Given the description of an element on the screen output the (x, y) to click on. 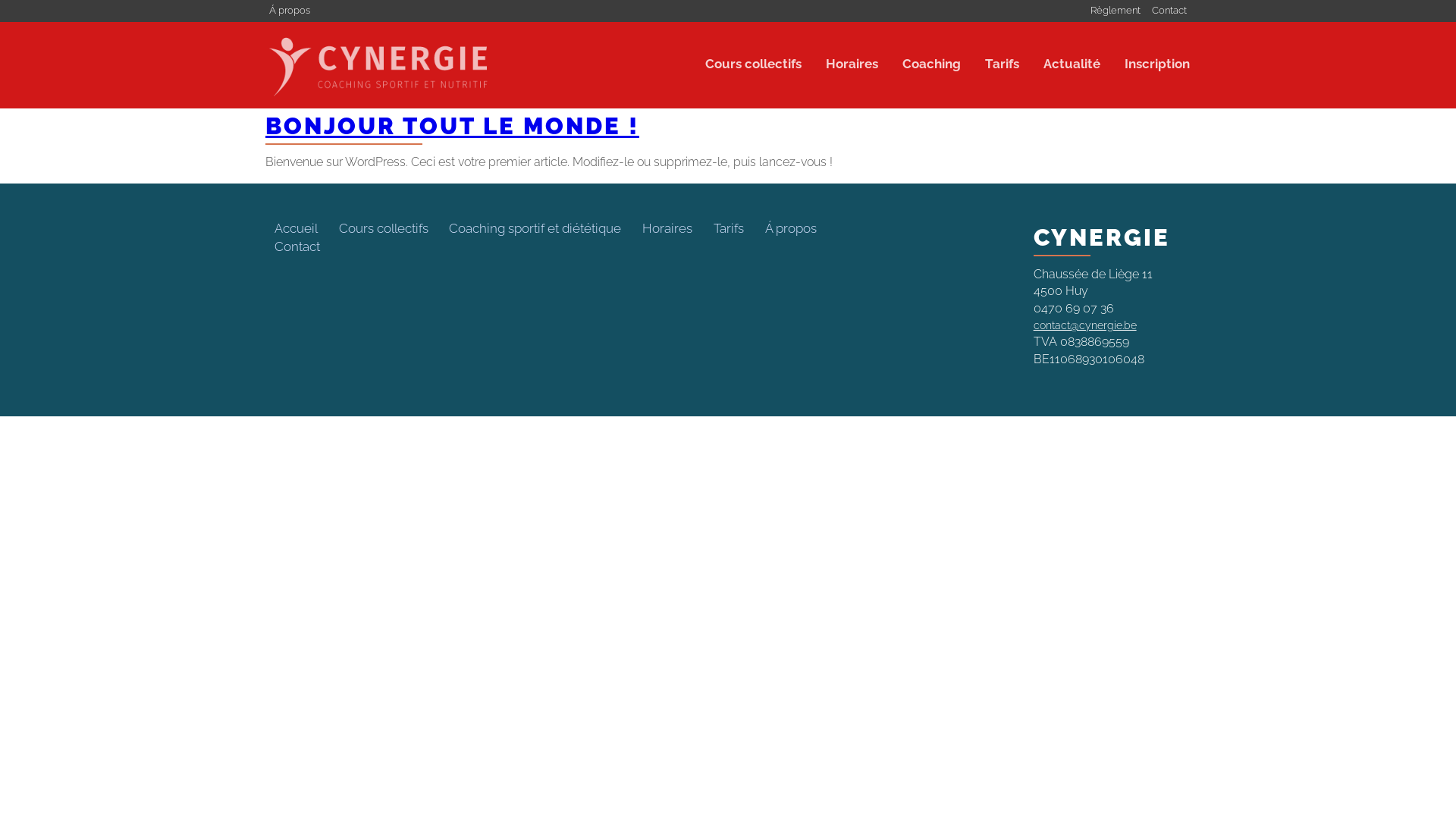
Coaching Element type: text (931, 64)
Cours collectifs Element type: text (383, 228)
BONJOUR TOUT LE MONDE ! Element type: text (452, 125)
Horaires Element type: text (851, 64)
Horaires Element type: text (667, 228)
Contact Element type: text (1169, 10)
Accueil Element type: text (295, 228)
Contact Element type: text (297, 247)
Inscription Element type: text (1151, 64)
Tarifs Element type: text (728, 228)
Cours collectifs Element type: text (753, 64)
contact@cynergie.be Element type: text (1084, 325)
Tarifs Element type: text (1001, 64)
